Given the description of an element on the screen output the (x, y) to click on. 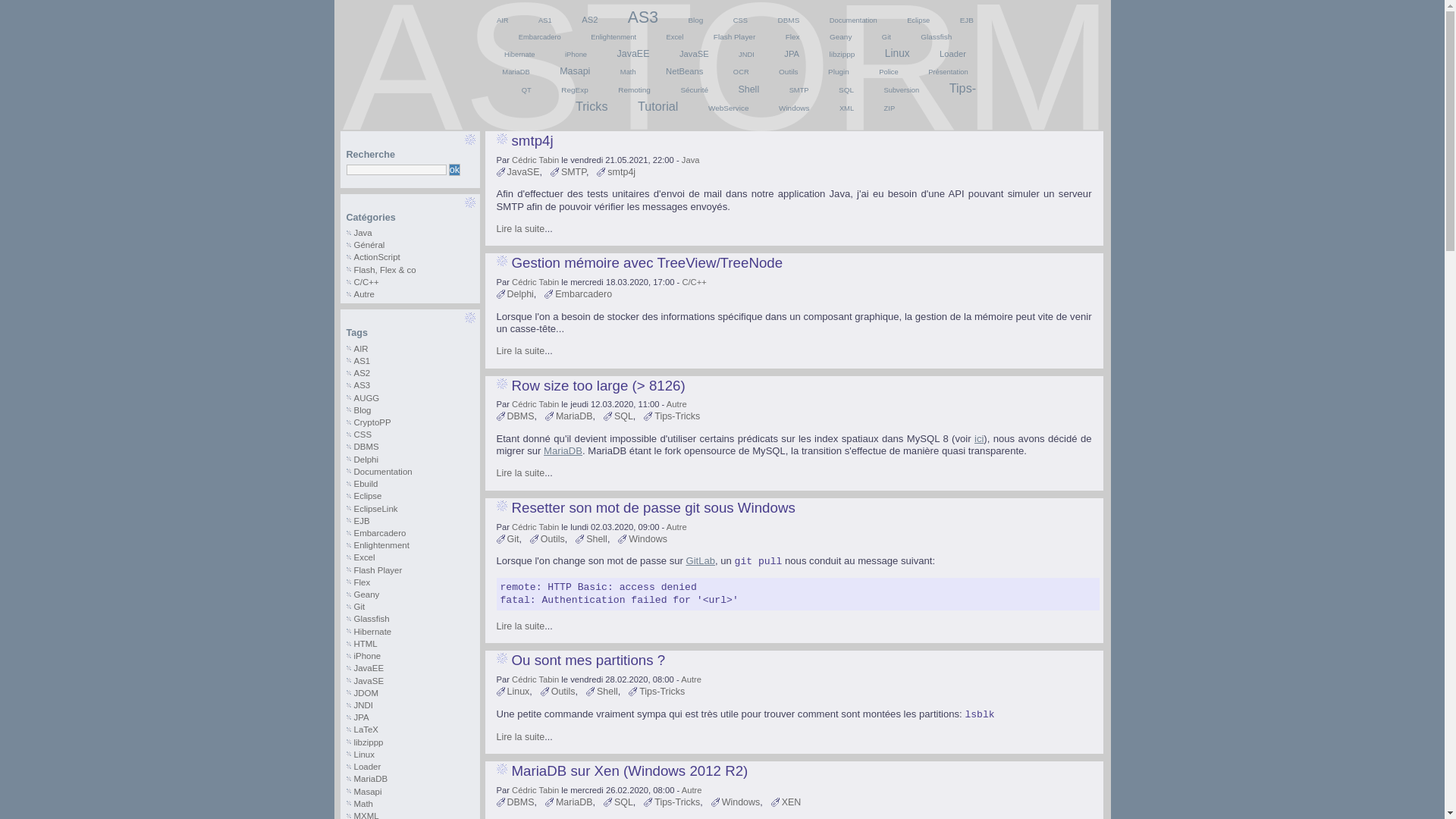
DBMS Element type: text (519, 416)
Eclipse Element type: text (917, 20)
Flash, Flex & co Element type: text (384, 269)
AIR Element type: text (360, 348)
Row size too large (> 8126) Element type: text (597, 385)
Shell Element type: text (596, 538)
AS2 Element type: text (361, 372)
Math Element type: text (363, 803)
Windows Element type: text (740, 802)
Embarcadero Element type: text (583, 293)
Windows Element type: text (793, 107)
Autre Element type: text (676, 525)
Autre Element type: text (691, 789)
Enlightenment Element type: text (380, 544)
CSS Element type: text (740, 20)
Delphi Element type: text (365, 459)
JavaEE Element type: text (633, 53)
Glassfish Element type: text (935, 36)
Lire la suite Element type: text (519, 472)
DBMS Element type: text (789, 19)
Geany Element type: text (366, 594)
Glassfish Element type: text (371, 618)
JPA Element type: text (360, 716)
MariaDB sur Xen (Windows 2012 R2) Element type: text (629, 770)
Linux Element type: text (897, 53)
JDOM Element type: text (365, 692)
AS3 Element type: text (361, 384)
SQL Element type: text (623, 802)
LaTeX Element type: text (365, 729)
OCR Element type: text (741, 71)
libzippp Element type: text (842, 54)
ActionScript Element type: text (376, 256)
Loader Element type: text (952, 53)
HTML Element type: text (364, 643)
Shell Element type: text (607, 691)
Excel Element type: text (674, 36)
Embarcadero Element type: text (379, 532)
MariaDB Element type: text (370, 778)
SQL Element type: text (845, 89)
AS3 Element type: text (642, 16)
Tips-Tricks Element type: text (775, 96)
Autre Element type: text (690, 679)
Blog Element type: text (694, 19)
libzippp Element type: text (367, 741)
Remoting Element type: text (634, 89)
Delphi Element type: text (519, 293)
DBMS Element type: text (519, 802)
Recherche Element type: hover (454, 169)
XML Element type: text (846, 108)
Windows Element type: text (647, 538)
WebService Element type: text (728, 107)
SQL Element type: text (623, 416)
Hibernate Element type: text (372, 631)
Outils Element type: text (787, 71)
Ebuild Element type: text (365, 483)
Tips-Tricks Element type: text (676, 802)
smtp4j Element type: text (621, 171)
Lire la suite Element type: text (519, 350)
JNDI Element type: text (363, 704)
EJB Element type: text (361, 520)
EclipseLink Element type: text (375, 508)
AUGG Element type: text (366, 397)
Lire la suite Element type: text (519, 228)
Outils Element type: text (552, 538)
Outils Element type: text (563, 691)
MariaDB Element type: text (515, 71)
ZIP Element type: text (889, 108)
Masapi Element type: text (367, 791)
Resetter son mot de passe git sous Windows Element type: text (652, 507)
Autre Element type: text (676, 403)
Loader Element type: text (366, 766)
JPA Element type: text (791, 53)
Eclipse Element type: text (367, 495)
ok Element type: text (454, 169)
Math Element type: text (628, 71)
smtp4j Element type: text (531, 140)
Tips-Tricks Element type: text (661, 691)
Geany Element type: text (840, 36)
SMTP Element type: text (573, 171)
Subversion Element type: text (901, 90)
Flex Element type: text (361, 581)
Excel Element type: text (363, 556)
JavaSE Element type: text (694, 53)
Linux Element type: text (517, 691)
ici Element type: text (978, 438)
RegExp Element type: text (574, 89)
Enlightenment Element type: text (613, 36)
MariaDB Element type: text (574, 416)
Shell Element type: text (748, 89)
CSS Element type: text (362, 434)
AIR Element type: text (502, 20)
Autre Element type: text (363, 293)
JavaEE Element type: text (368, 667)
Documentation Element type: text (382, 471)
QT Element type: text (526, 90)
CryptoPP Element type: text (371, 421)
Tips-Tricks Element type: text (676, 416)
Java Element type: text (690, 159)
Hibernate Element type: text (519, 54)
AS1 Element type: text (545, 20)
Documentation Element type: text (853, 20)
XEN Element type: text (791, 802)
Lire la suite Element type: text (519, 626)
Git Element type: text (886, 36)
NetBeans Element type: text (683, 70)
C/C++ Element type: text (693, 281)
Flash Player Element type: text (734, 36)
Flex Element type: text (792, 36)
Java Element type: text (362, 232)
Ou sont mes partitions ? Element type: text (588, 660)
Linux Element type: text (363, 754)
AS2 Element type: text (589, 19)
Masapi Element type: text (574, 70)
Git Element type: text (358, 606)
MariaDB Element type: text (562, 450)
MariaDB Element type: text (574, 802)
Plugin Element type: text (838, 71)
JavaSE Element type: text (368, 680)
iPhone Element type: text (575, 54)
SMTP Element type: text (799, 90)
C/C++ Element type: text (365, 281)
JavaSE Element type: text (522, 171)
GitLab Element type: text (700, 560)
DBMS Element type: text (365, 446)
EJB Element type: text (966, 19)
Git Element type: text (512, 538)
Flash Player Element type: text (377, 569)
Police Element type: text (887, 71)
iPhone Element type: text (366, 655)
Embarcadero Element type: text (539, 36)
Blog Element type: text (361, 409)
AS1 Element type: text (361, 360)
Tutorial Element type: text (657, 105)
JNDI Element type: text (746, 54)
Lire la suite Element type: text (519, 736)
